Given the description of an element on the screen output the (x, y) to click on. 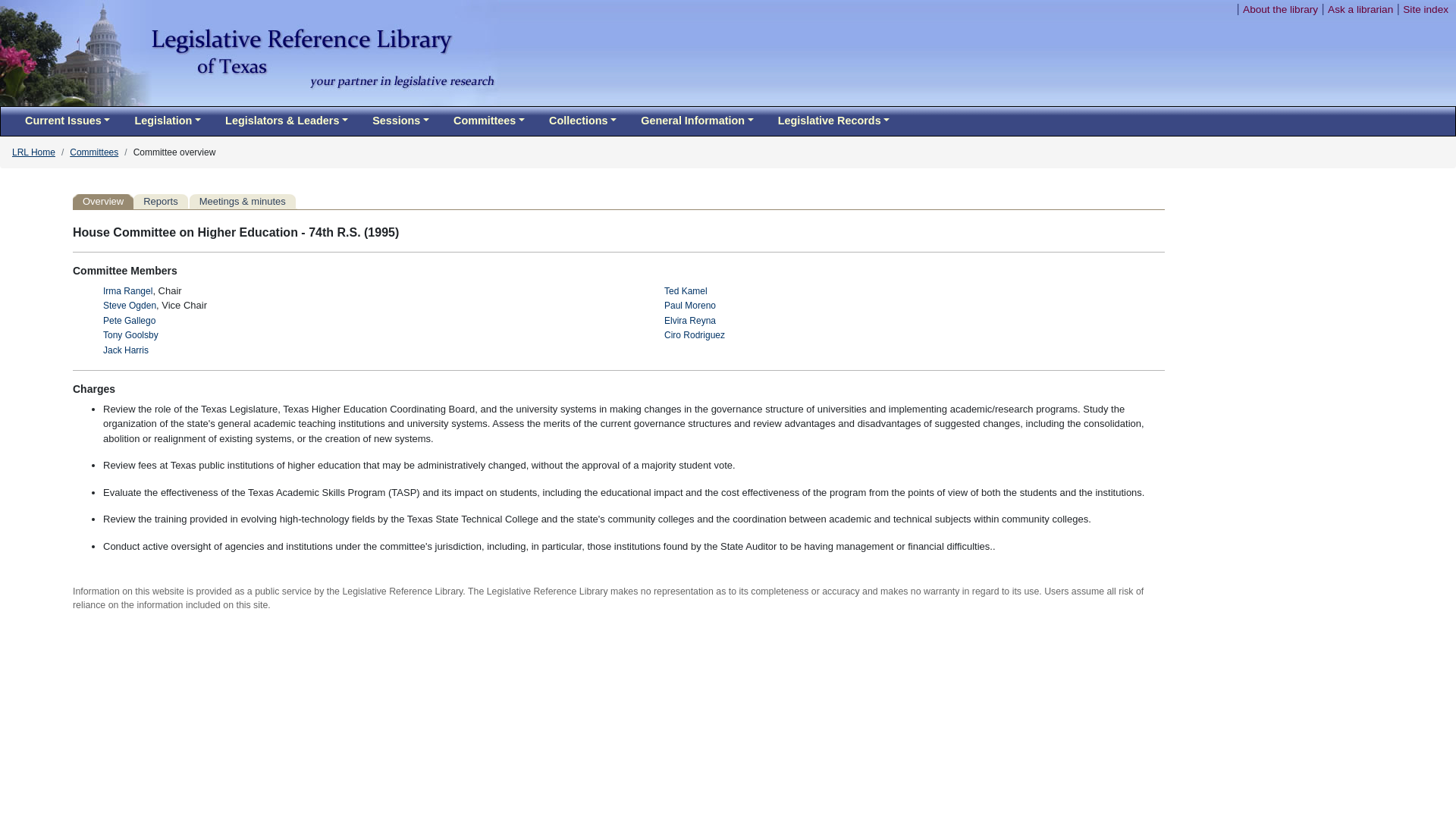
Current Issues (67, 121)
Ask a librarian (1360, 9)
Site index (1425, 9)
Legislation (167, 121)
About the library (1280, 9)
Skip to main content (1177, 8)
